Given the description of an element on the screen output the (x, y) to click on. 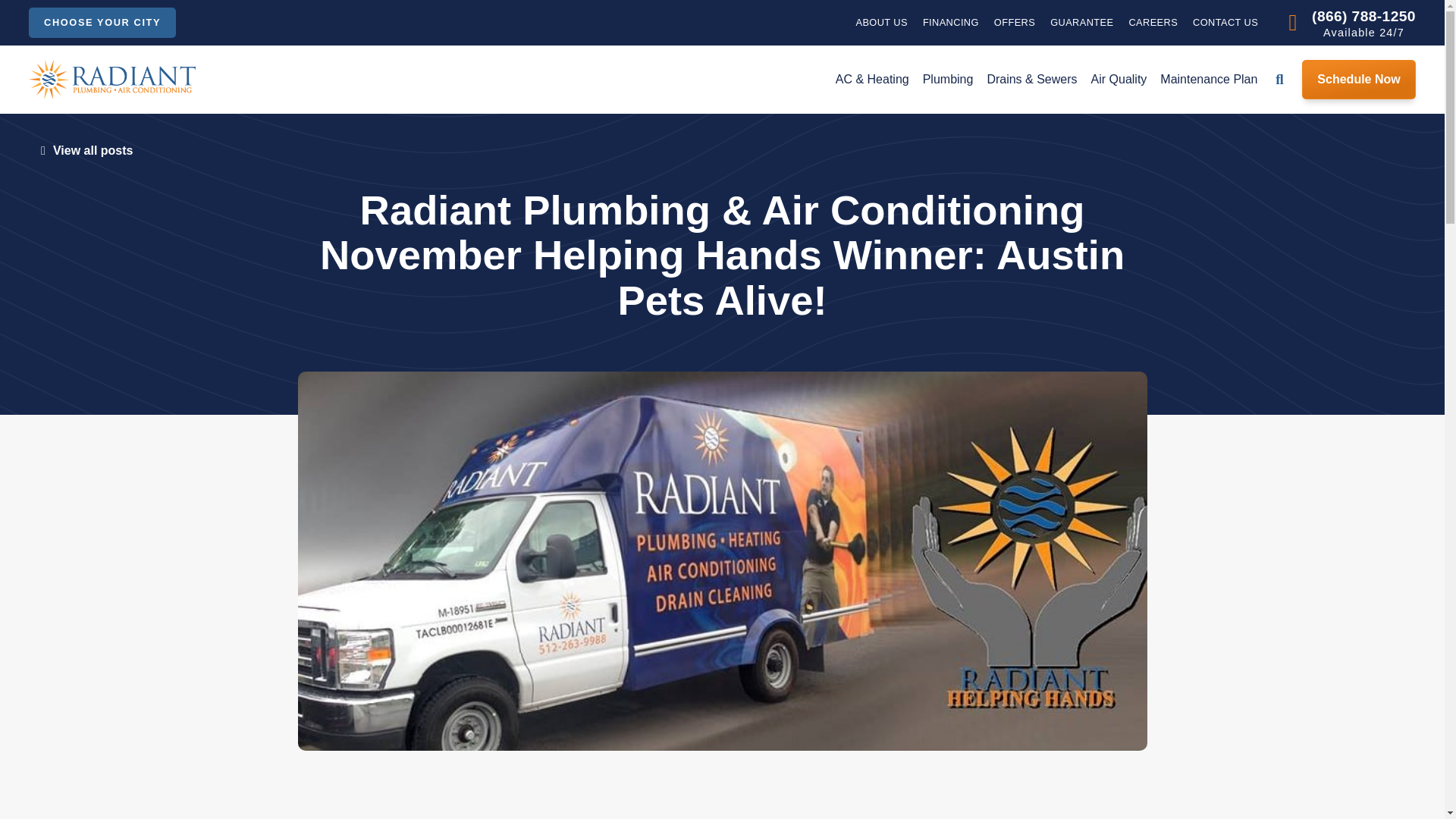
FINANCING (950, 22)
GUARANTEE (1081, 22)
CONTACT US (1224, 22)
OFFERS (1014, 22)
CAREERS (1152, 22)
CHOOSE YOUR CITY (102, 22)
ABOUT US (881, 22)
